Given the description of an element on the screen output the (x, y) to click on. 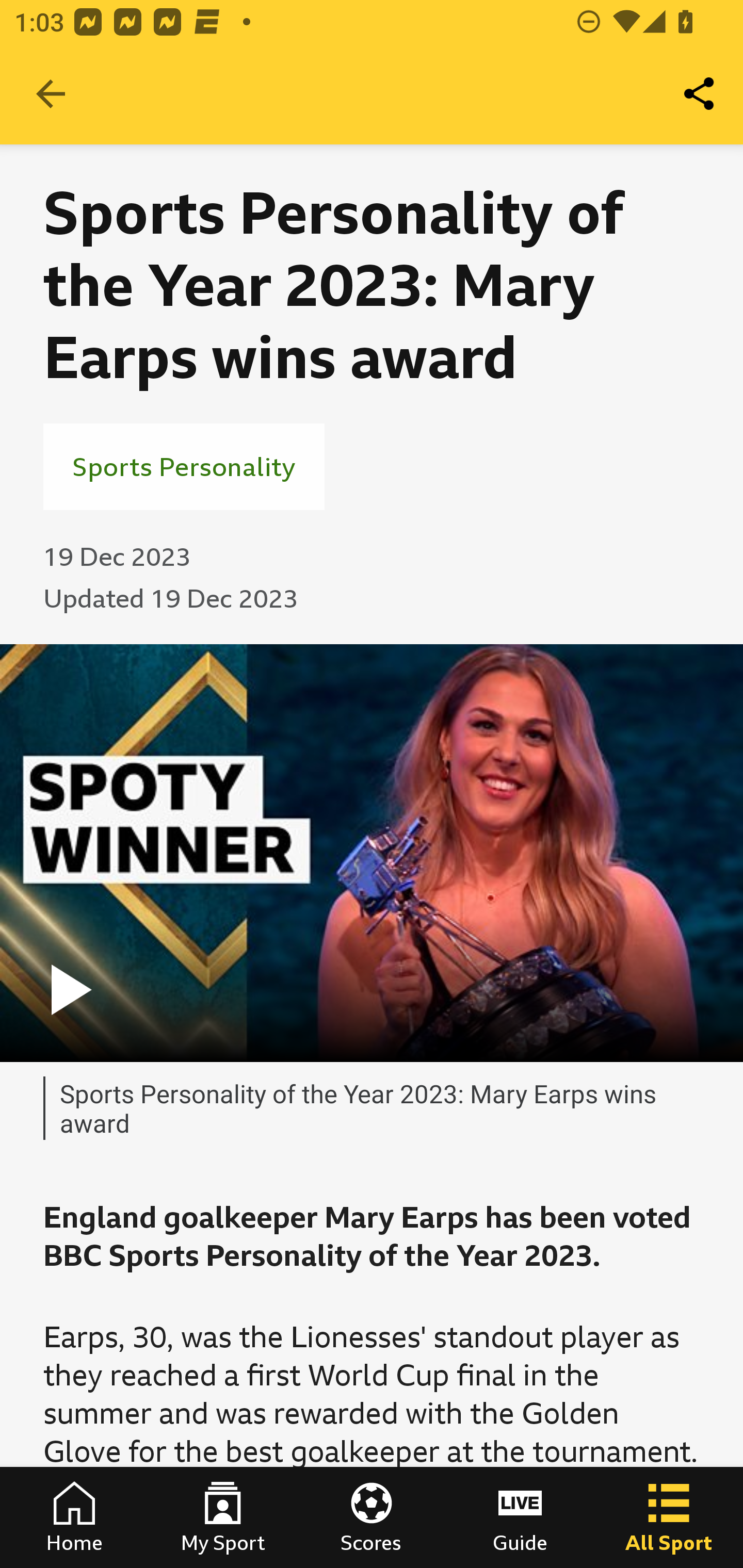
Navigate up (50, 93)
Share (699, 93)
Sports Personality (183, 466)
play fullscreen (371, 852)
Home (74, 1517)
My Sport (222, 1517)
Scores (371, 1517)
Guide (519, 1517)
